Given the description of an element on the screen output the (x, y) to click on. 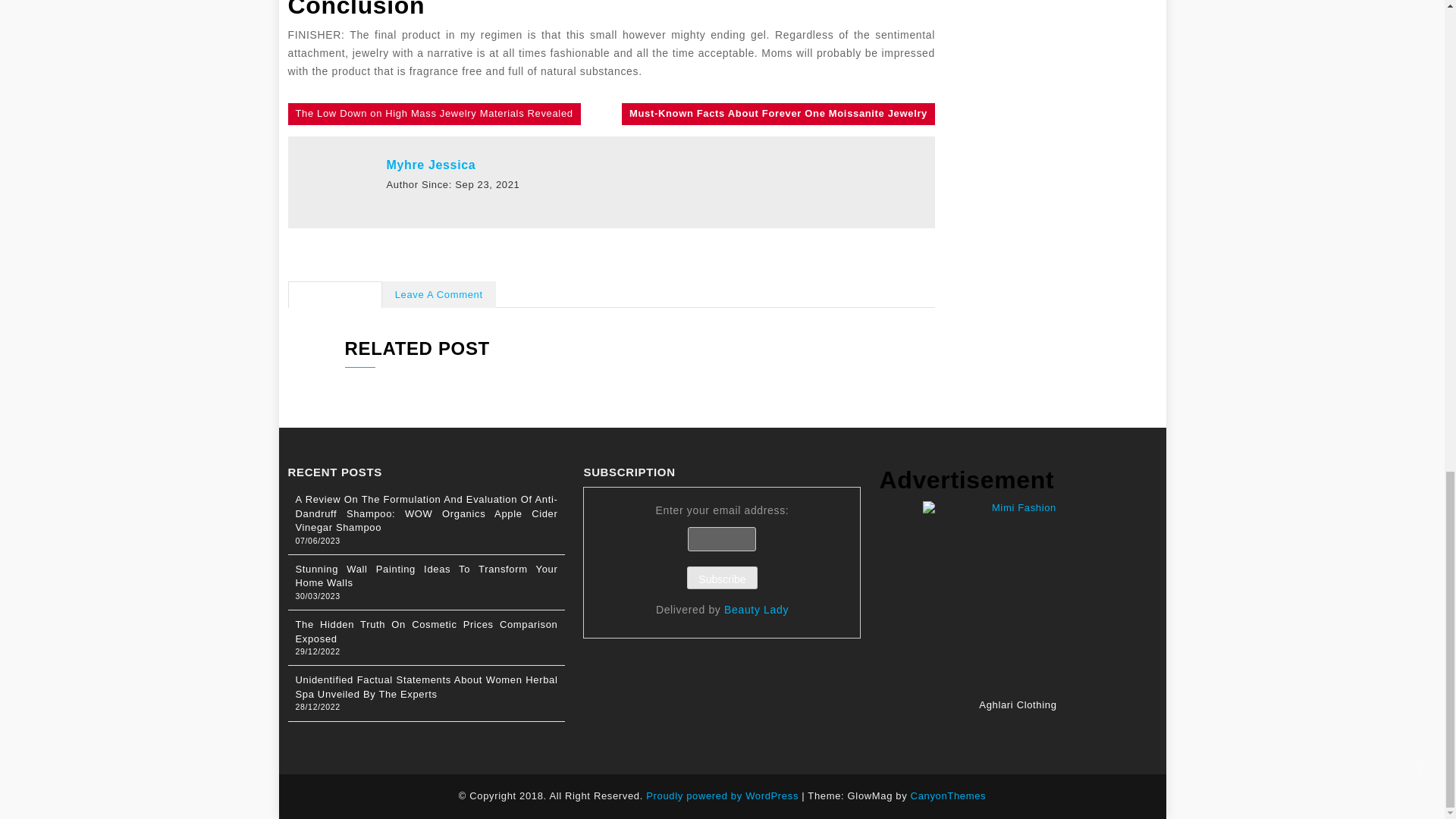
Must-Known Facts About Forever One Moissanite Jewelry (777, 114)
Subscribe (722, 577)
Posts by Myhre Jessica (431, 164)
The Low Down on High Mass Jewelry Materials Revealed (434, 114)
No Comments (334, 295)
Mimi Fashion (1017, 596)
Myhre Jessica (431, 164)
Leave A Comment (438, 295)
